Given the description of an element on the screen output the (x, y) to click on. 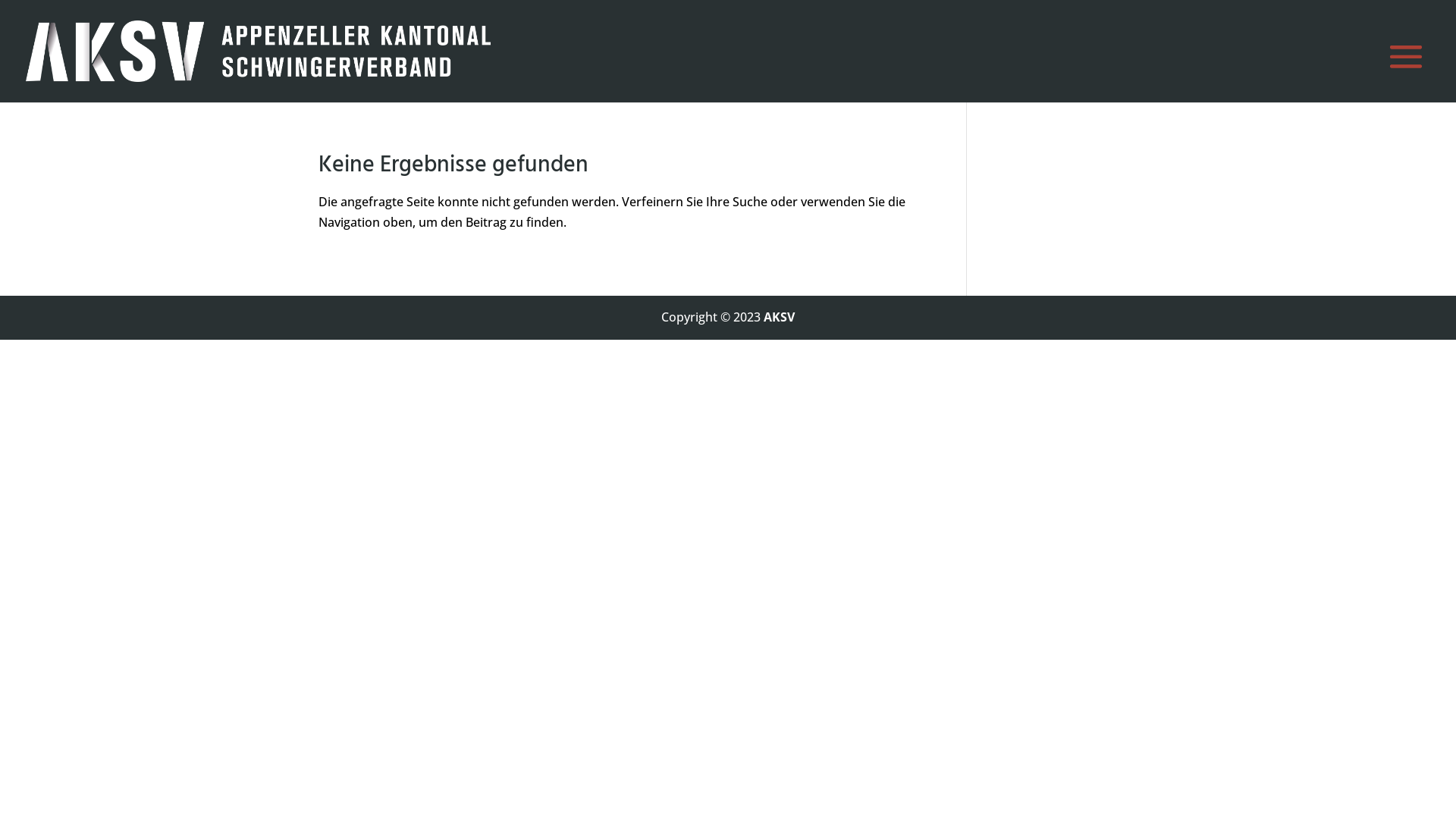
AKSV Element type: text (778, 316)
